Given the description of an element on the screen output the (x, y) to click on. 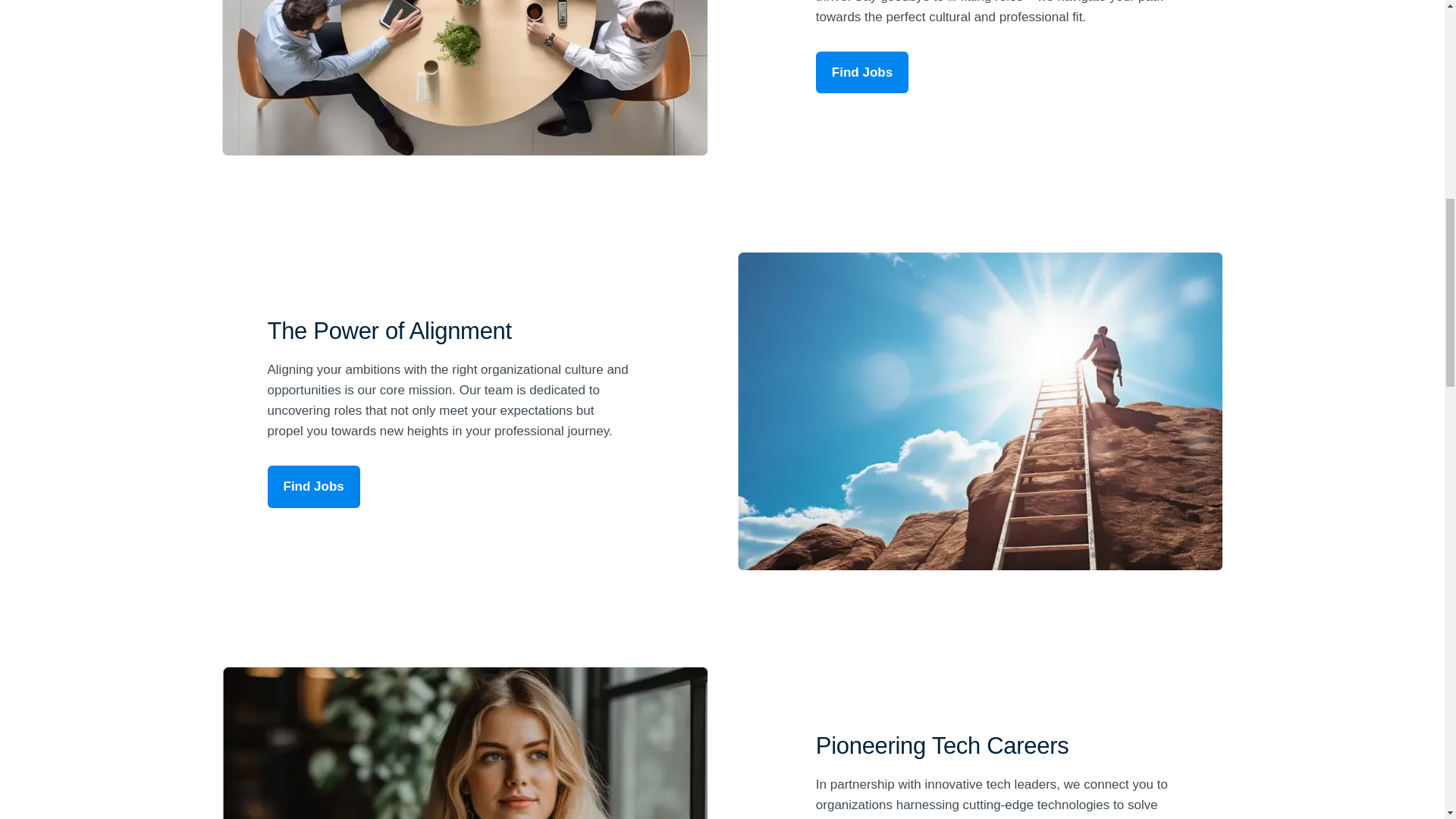
Find Jobs (312, 486)
Find Jobs (861, 72)
